Given the description of an element on the screen output the (x, y) to click on. 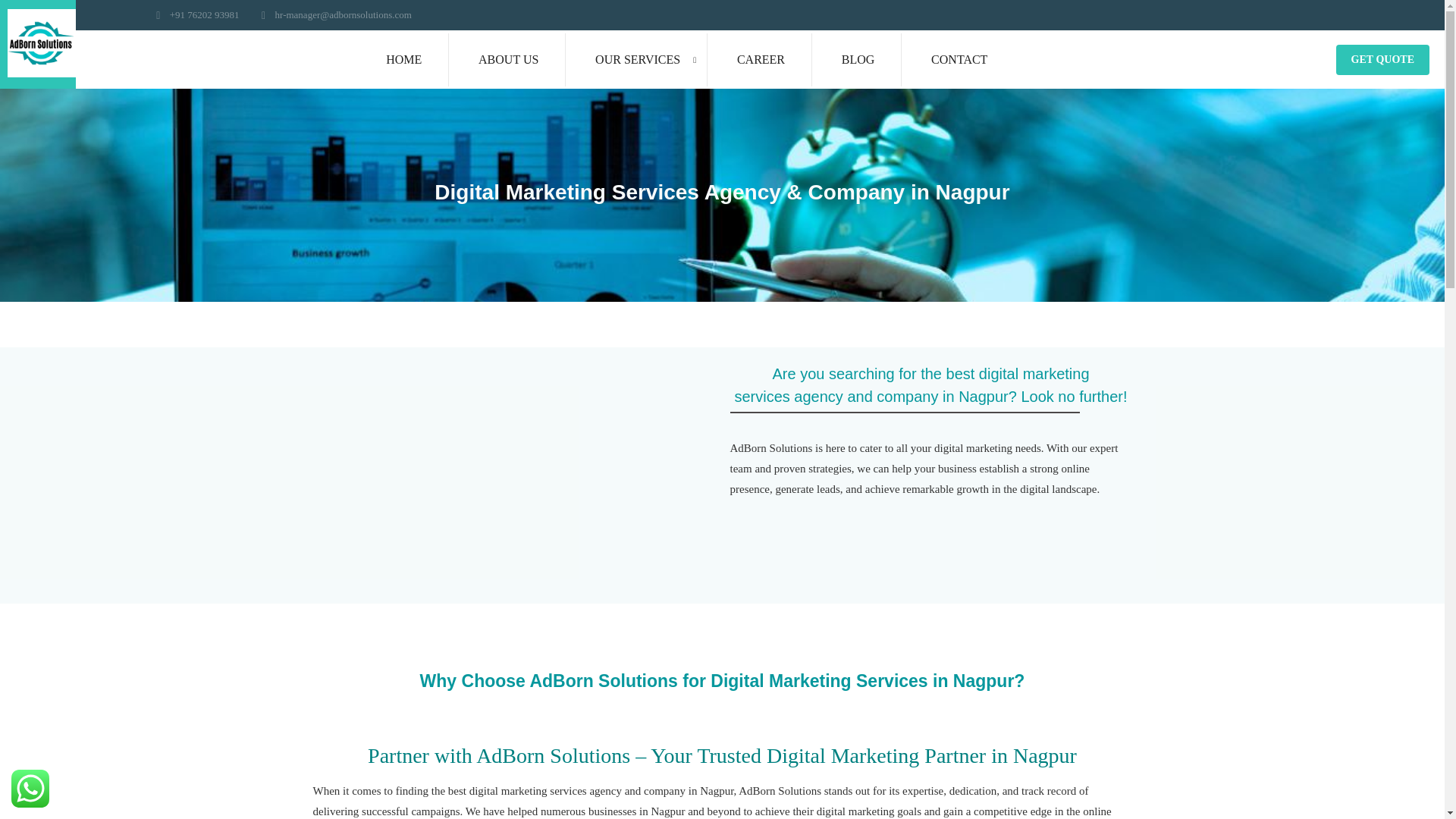
ABOUT US (508, 59)
HOME (403, 59)
OUR SERVICES (637, 59)
